Given the description of an element on the screen output the (x, y) to click on. 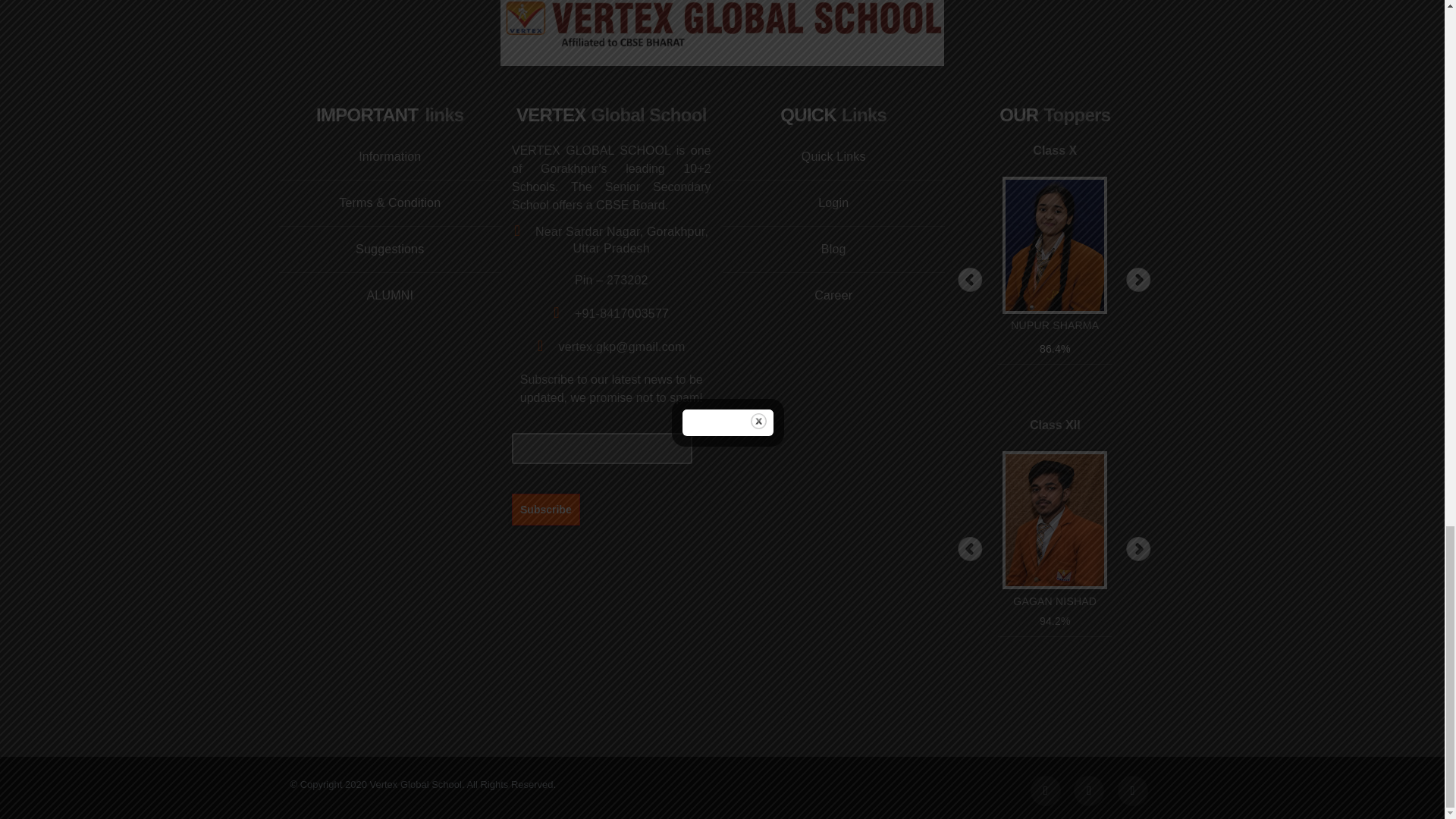
Subscribe (545, 508)
